Given the description of an element on the screen output the (x, y) to click on. 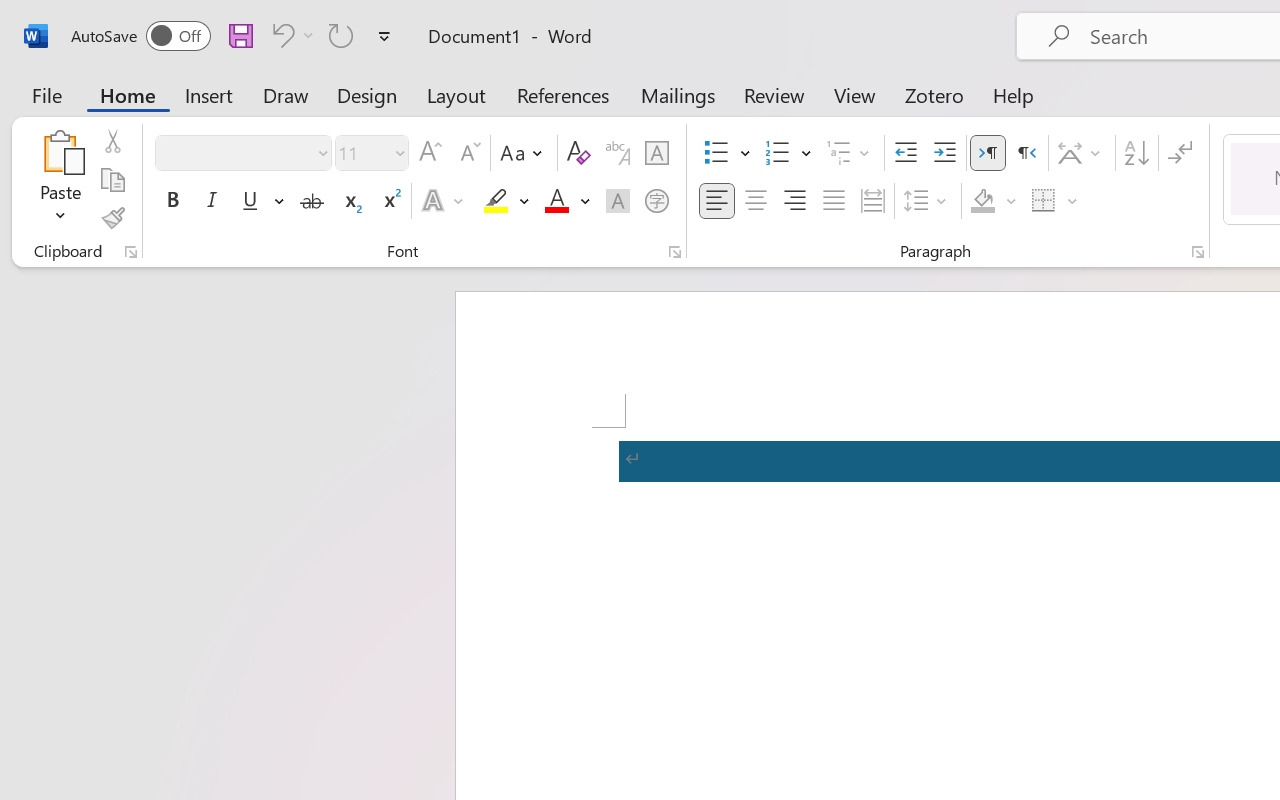
Undo Apply Quick Style Set (290, 35)
